Given the description of an element on the screen output the (x, y) to click on. 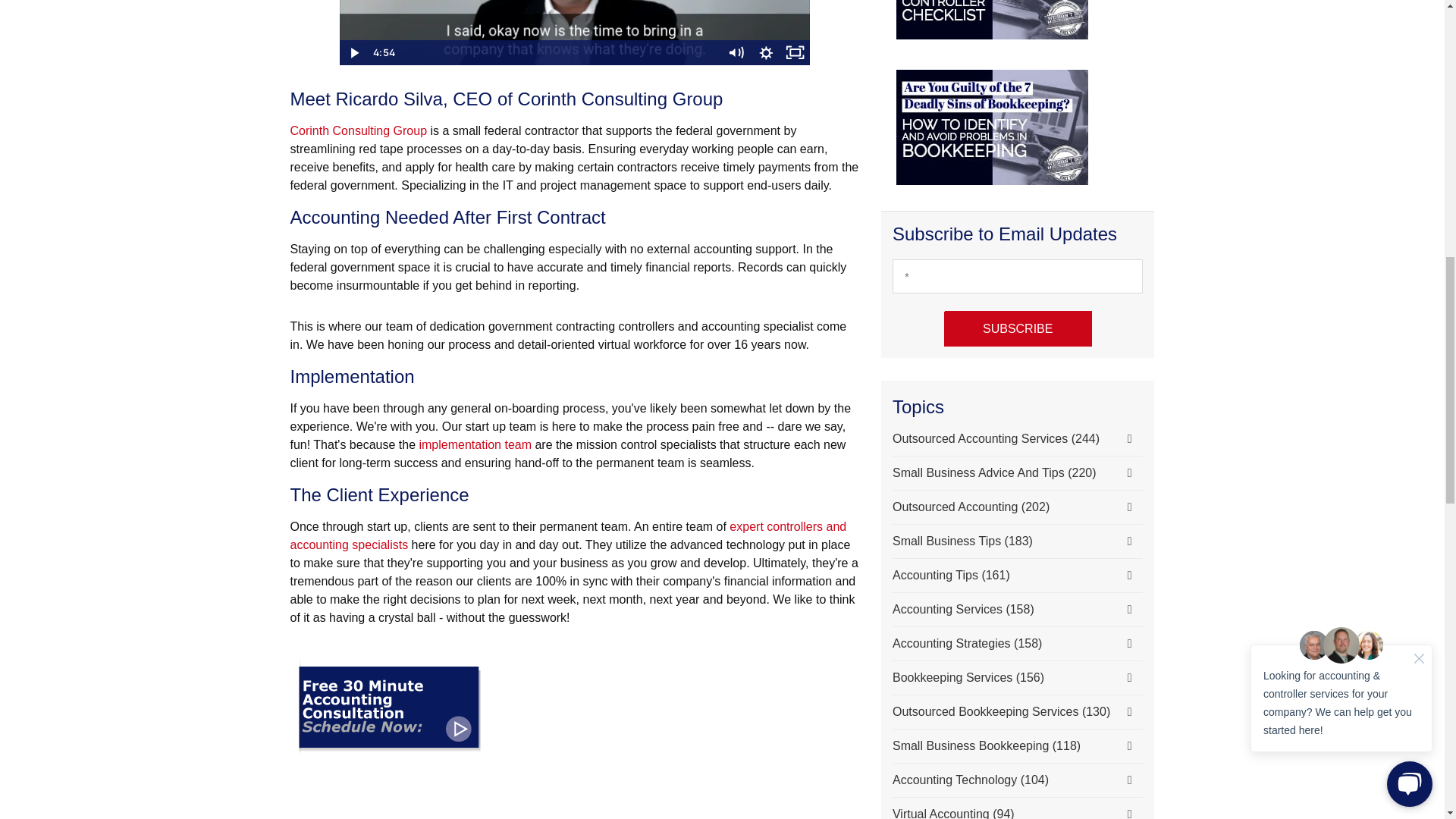
Subscribe (1017, 328)
